Given the description of an element on the screen output the (x, y) to click on. 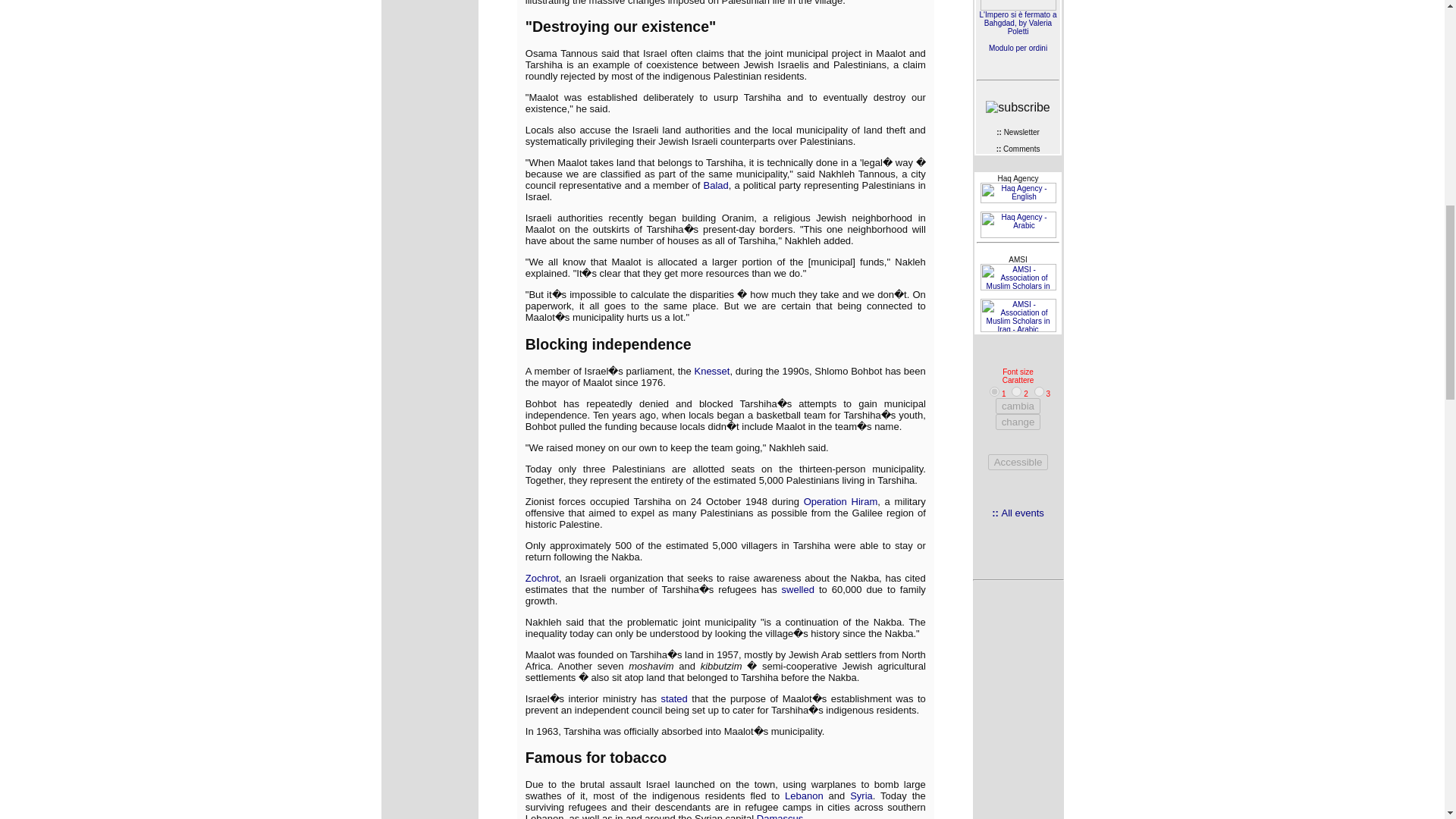
1 (994, 391)
change (1018, 421)
Lebanon (804, 795)
Operation Hiram (840, 501)
Syria (861, 795)
2 (1016, 391)
Damascus (780, 816)
swelled (797, 589)
Accessible (1018, 462)
cambia (1018, 406)
Balad (716, 184)
Knesset (711, 370)
3 (1038, 391)
stated (674, 698)
Zochrot (542, 577)
